Given the description of an element on the screen output the (x, y) to click on. 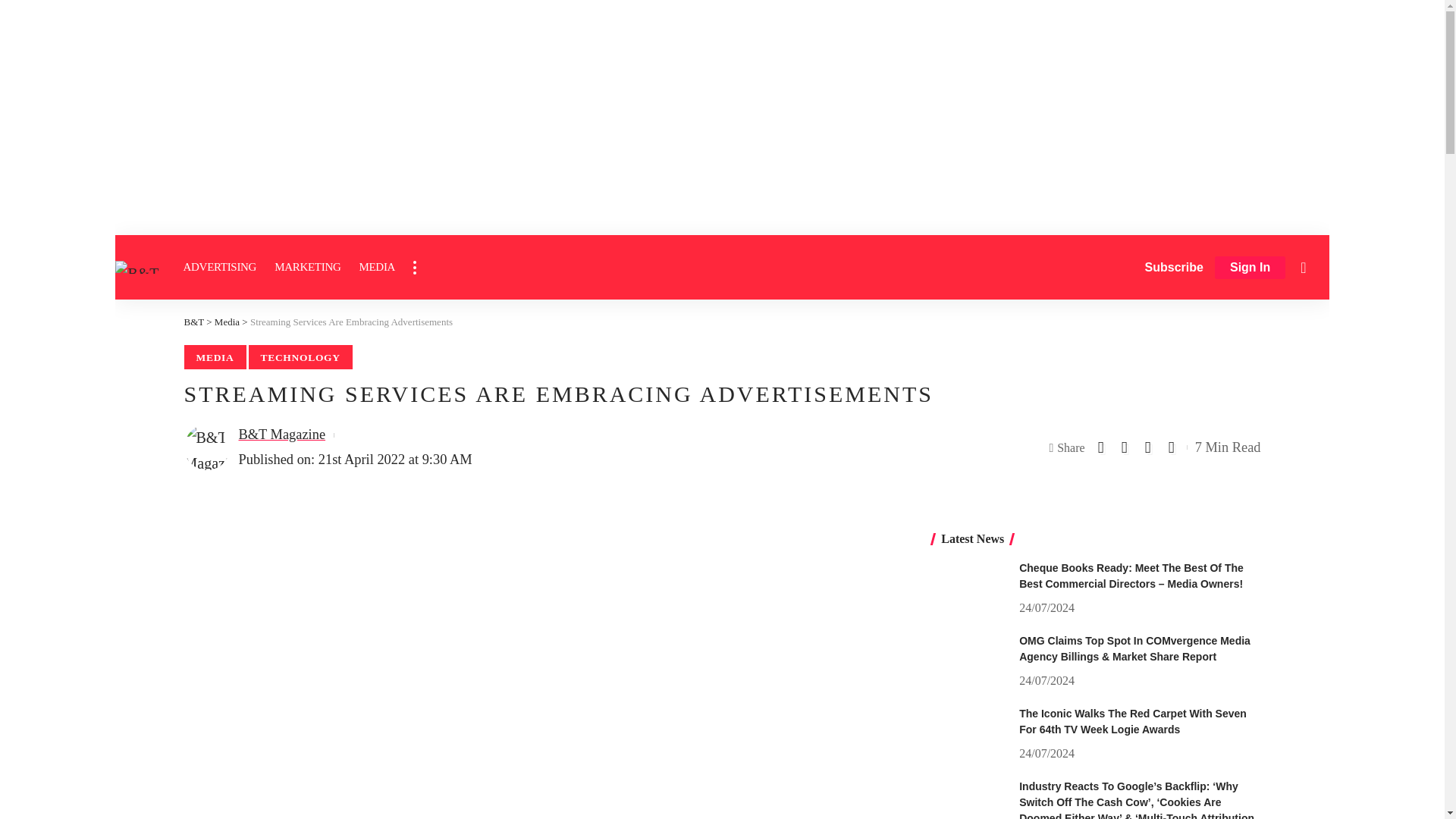
MARKETING (306, 267)
Subscribe (1174, 267)
ADVERTISING (220, 267)
Go to the Media Category archives. (227, 321)
Sign In (1249, 267)
